Given the description of an element on the screen output the (x, y) to click on. 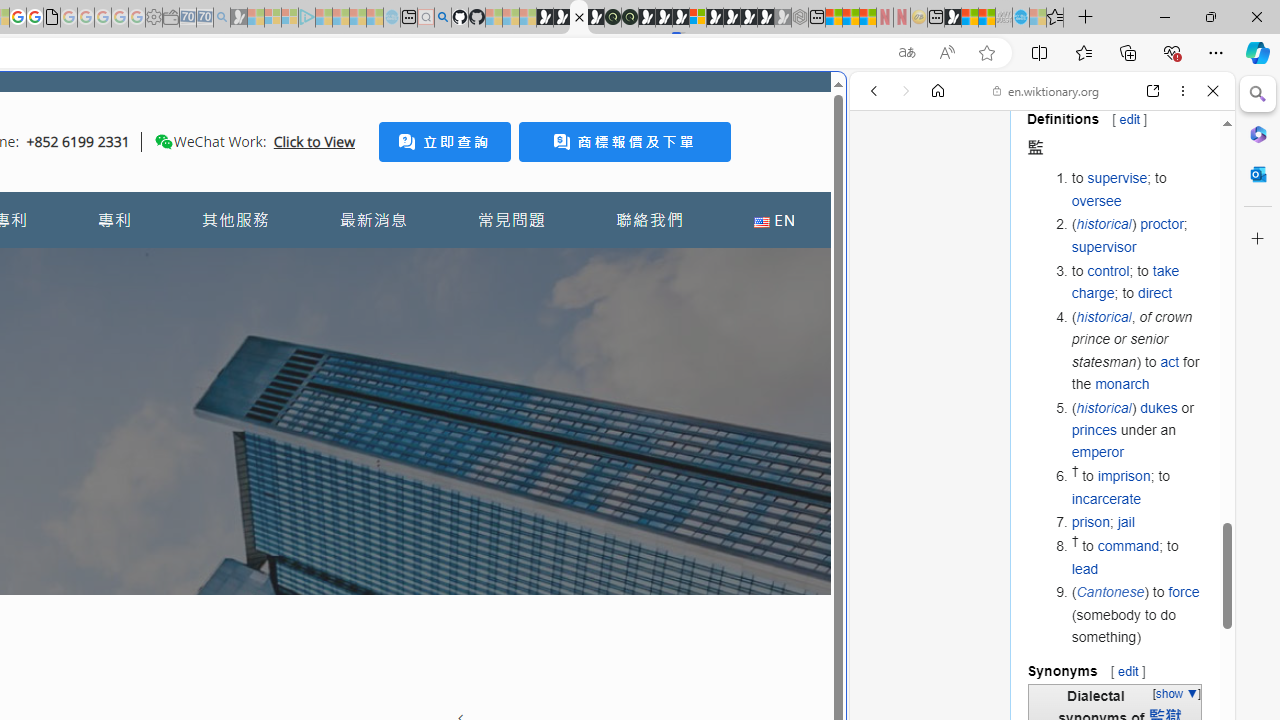
imprison (1123, 476)
